Given the description of an element on the screen output the (x, y) to click on. 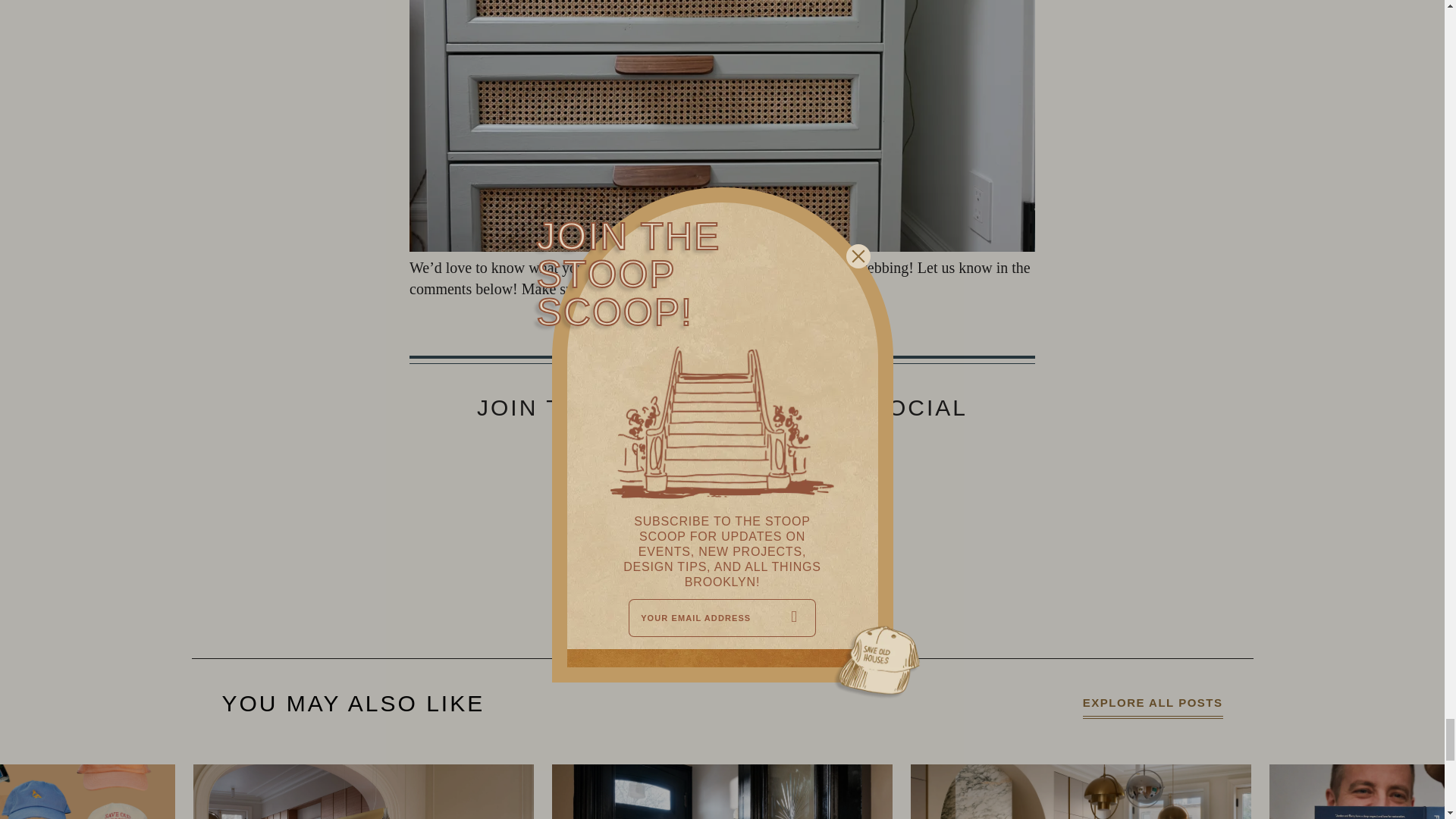
Pinterest (741, 448)
YouTube (662, 448)
EXPLORE ALL POSTS (1153, 704)
Instagram (720, 288)
Instagram (702, 448)
TikTok (780, 448)
